Given the description of an element on the screen output the (x, y) to click on. 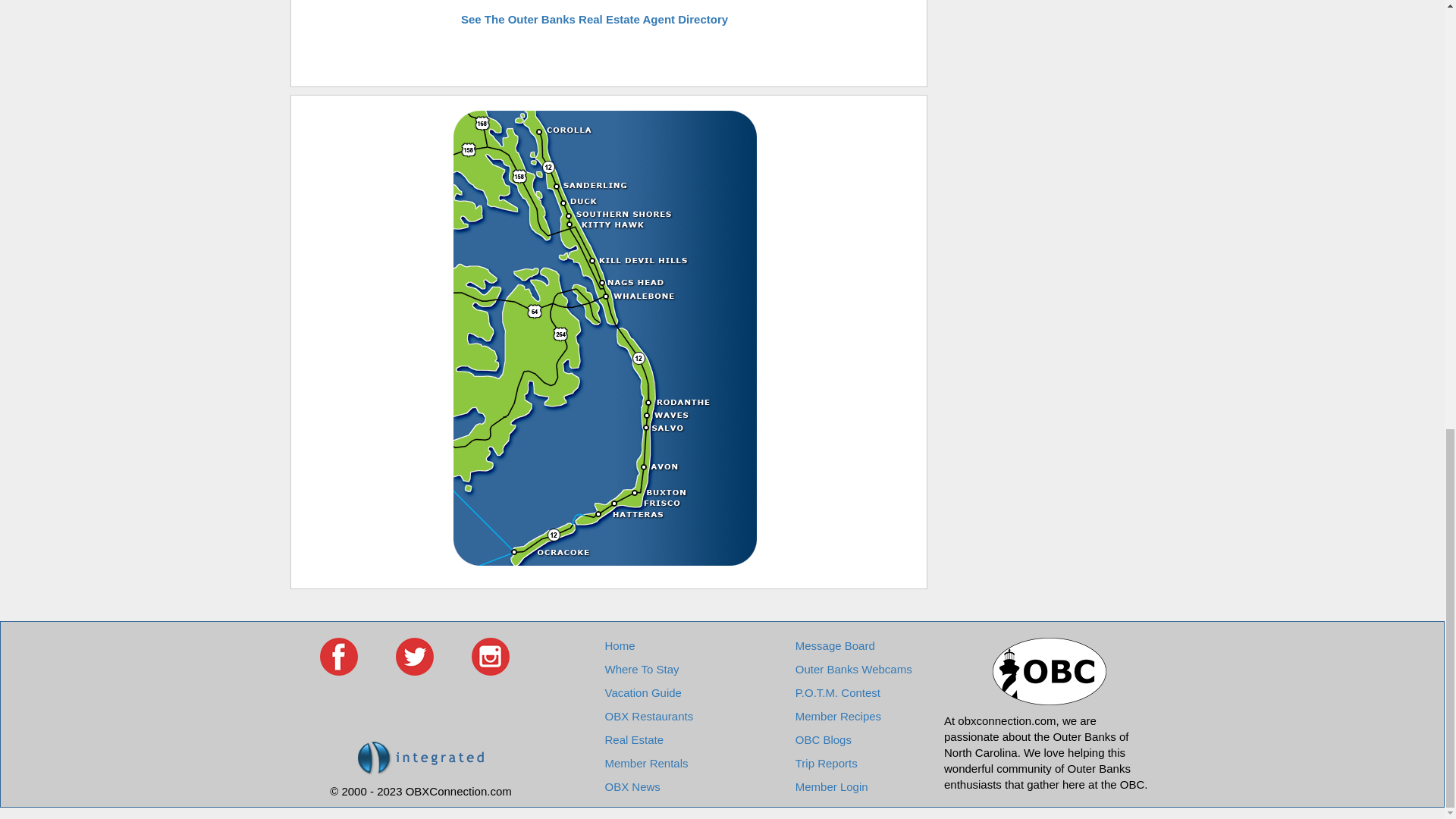
Vacation Guide (642, 692)
OBX Restaurants (648, 716)
Member Rentals (645, 762)
Home (619, 645)
Where To Stay (641, 668)
See The Outer Banks Real Estate Agent Directory (594, 19)
Real Estate (633, 739)
